Given the description of an element on the screen output the (x, y) to click on. 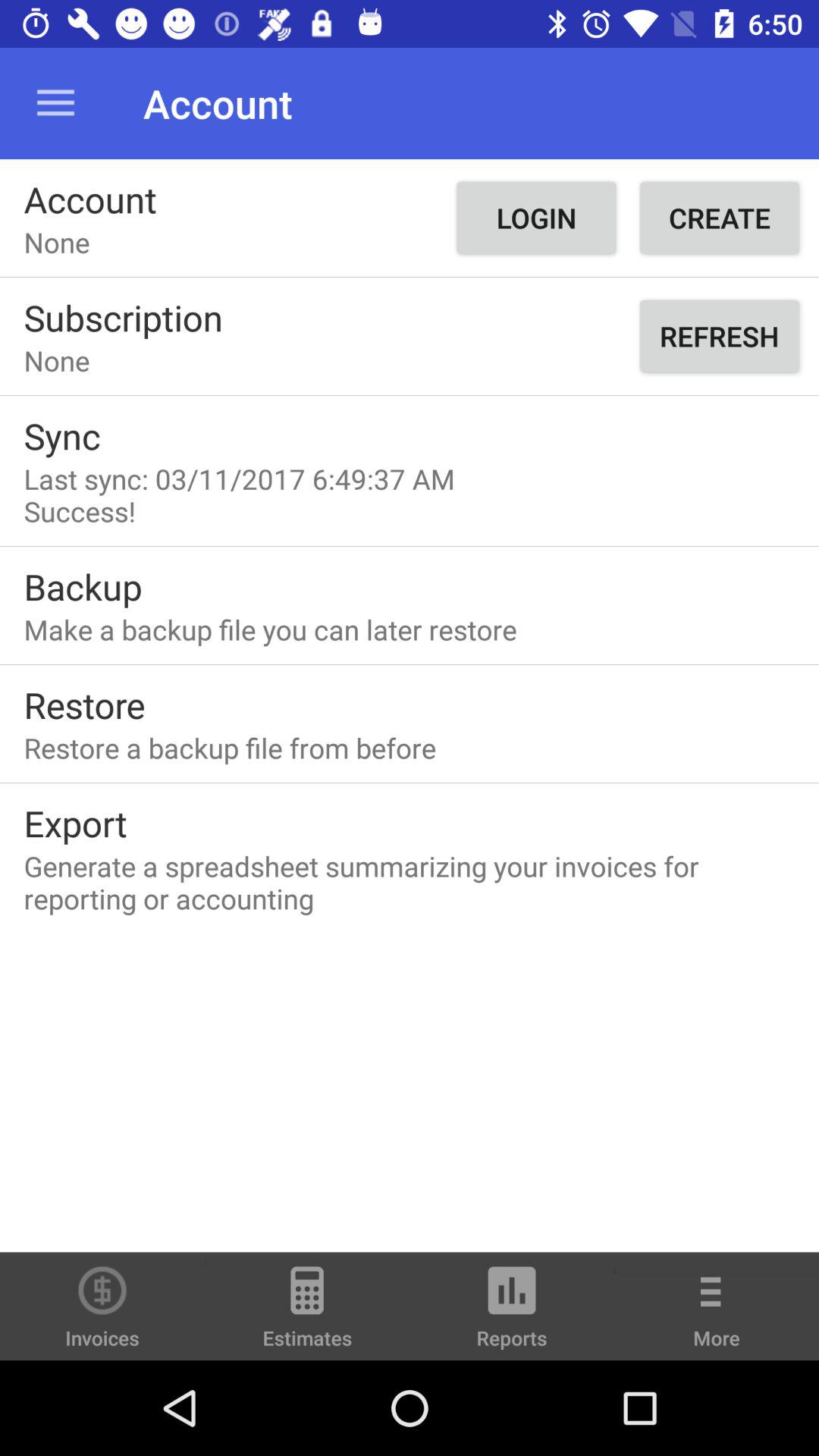
select the icon to the right of estimates icon (511, 1313)
